Given the description of an element on the screen output the (x, y) to click on. 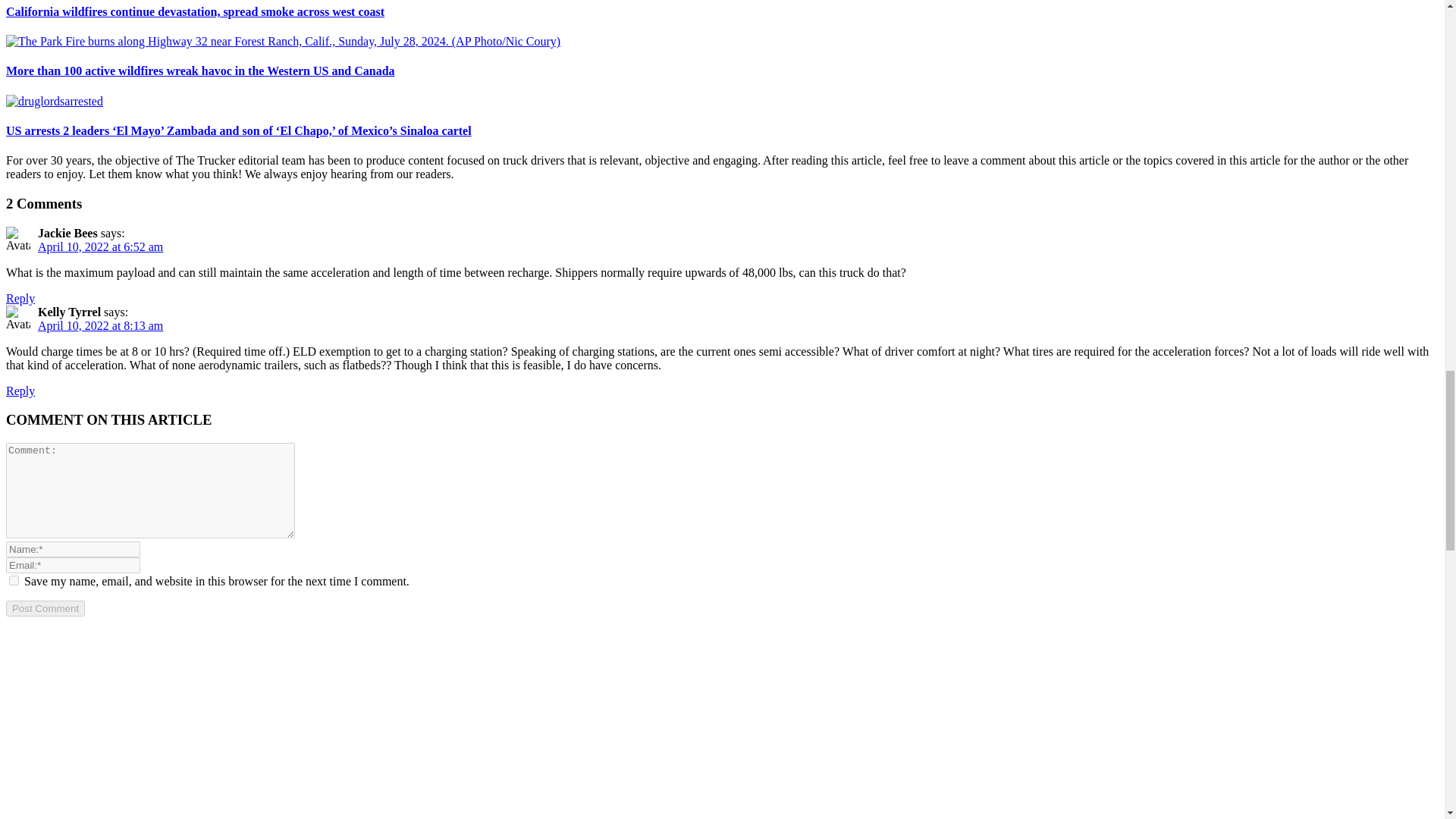
Post Comment (44, 608)
yes (13, 580)
